Given the description of an element on the screen output the (x, y) to click on. 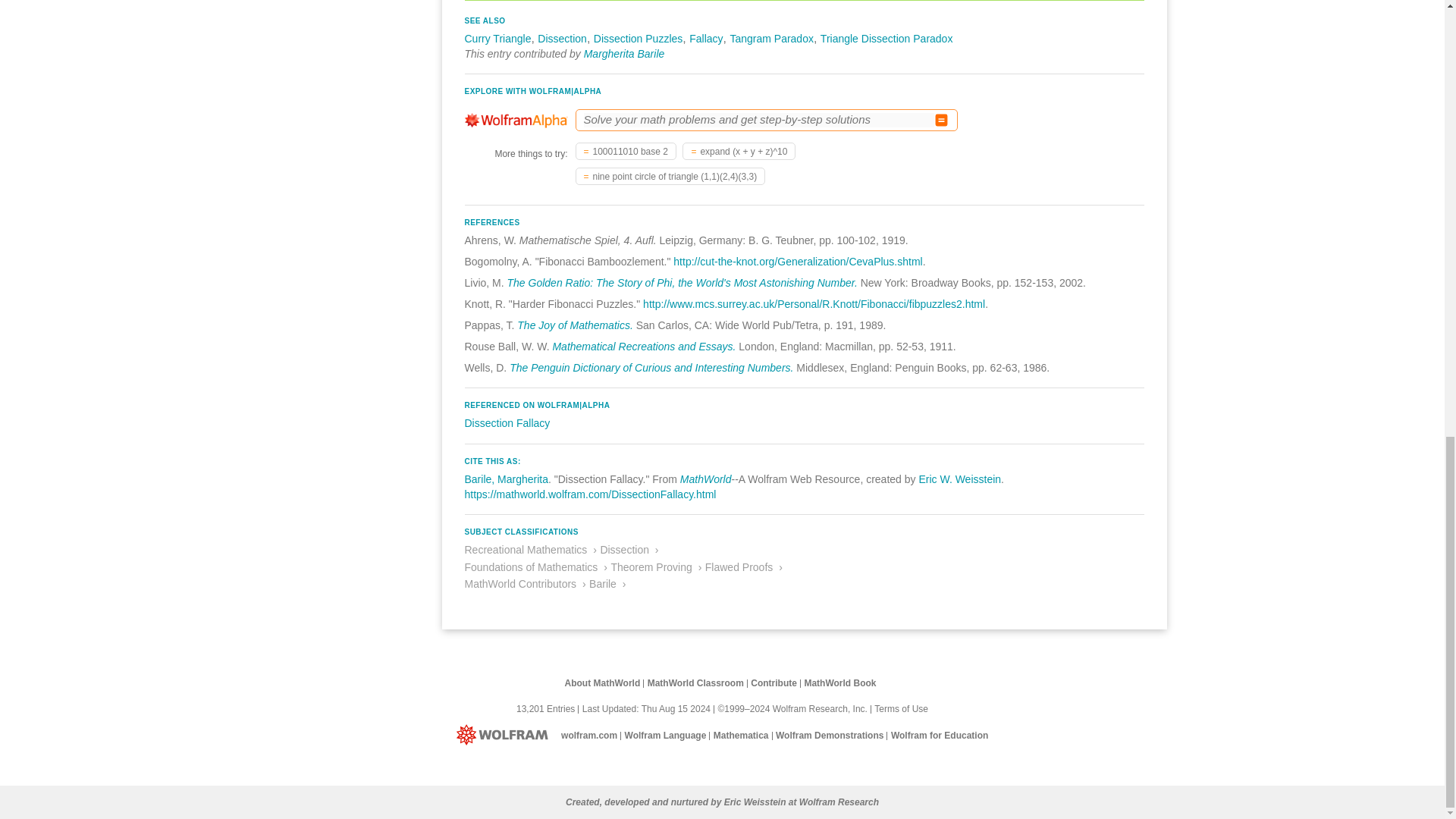
The Joy of Mathematics. (574, 325)
The Penguin Dictionary of Curious and Interesting Numbers. (651, 367)
100011010 base 2 (625, 151)
Dissection (561, 38)
Fallacy (705, 38)
Triangle Dissection Paradox (887, 38)
WolframAlpha (515, 120)
Mathematical Recreations and Essays. (643, 346)
Evaluate on WolframAlpha (941, 120)
